Given the description of an element on the screen output the (x, y) to click on. 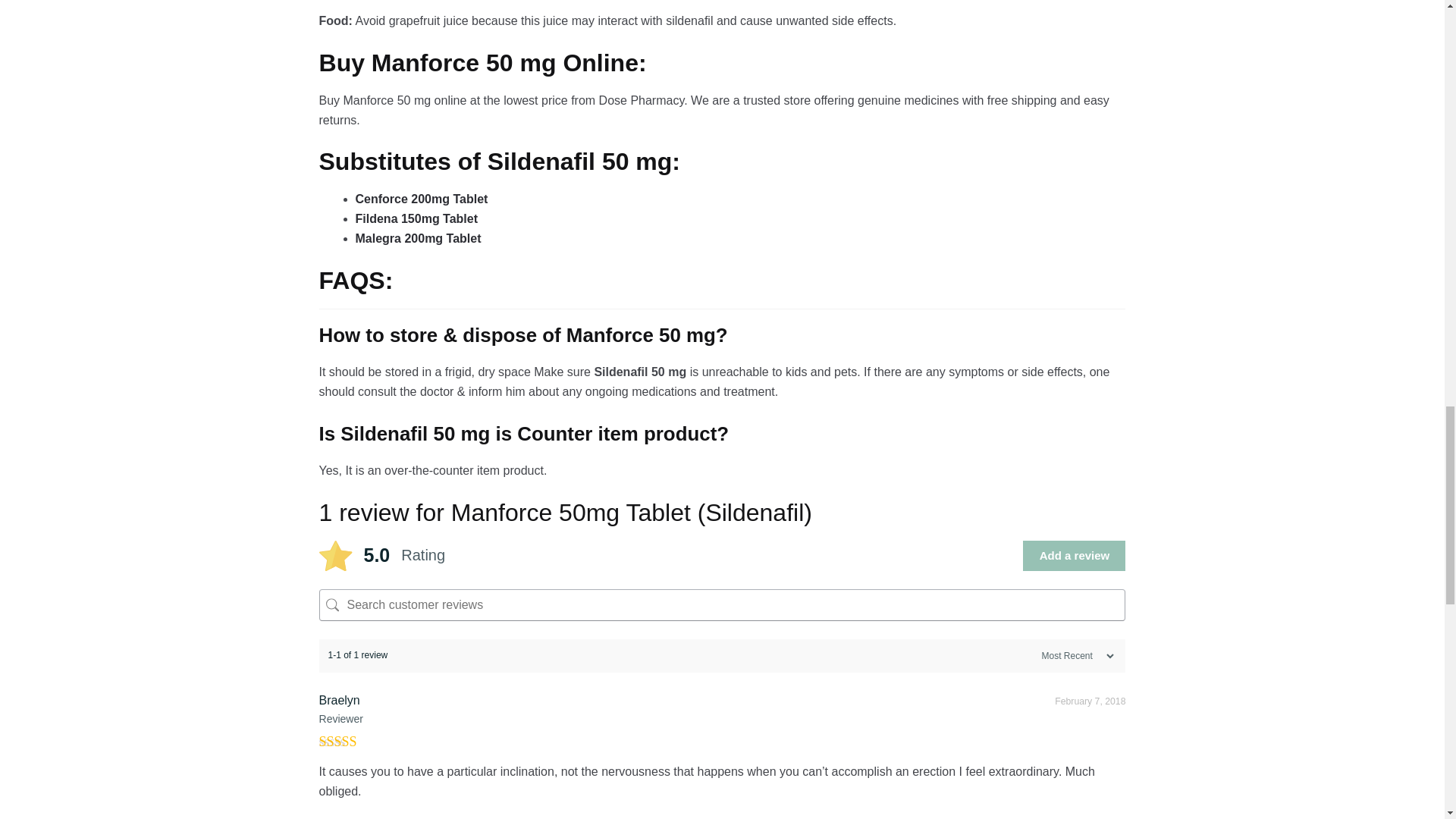
Cenforce 200mg Tablet (421, 198)
Add a review (1074, 555)
Fildena 150mg Tablet (417, 218)
Malegra 200mg Tablet (418, 237)
